Given the description of an element on the screen output the (x, y) to click on. 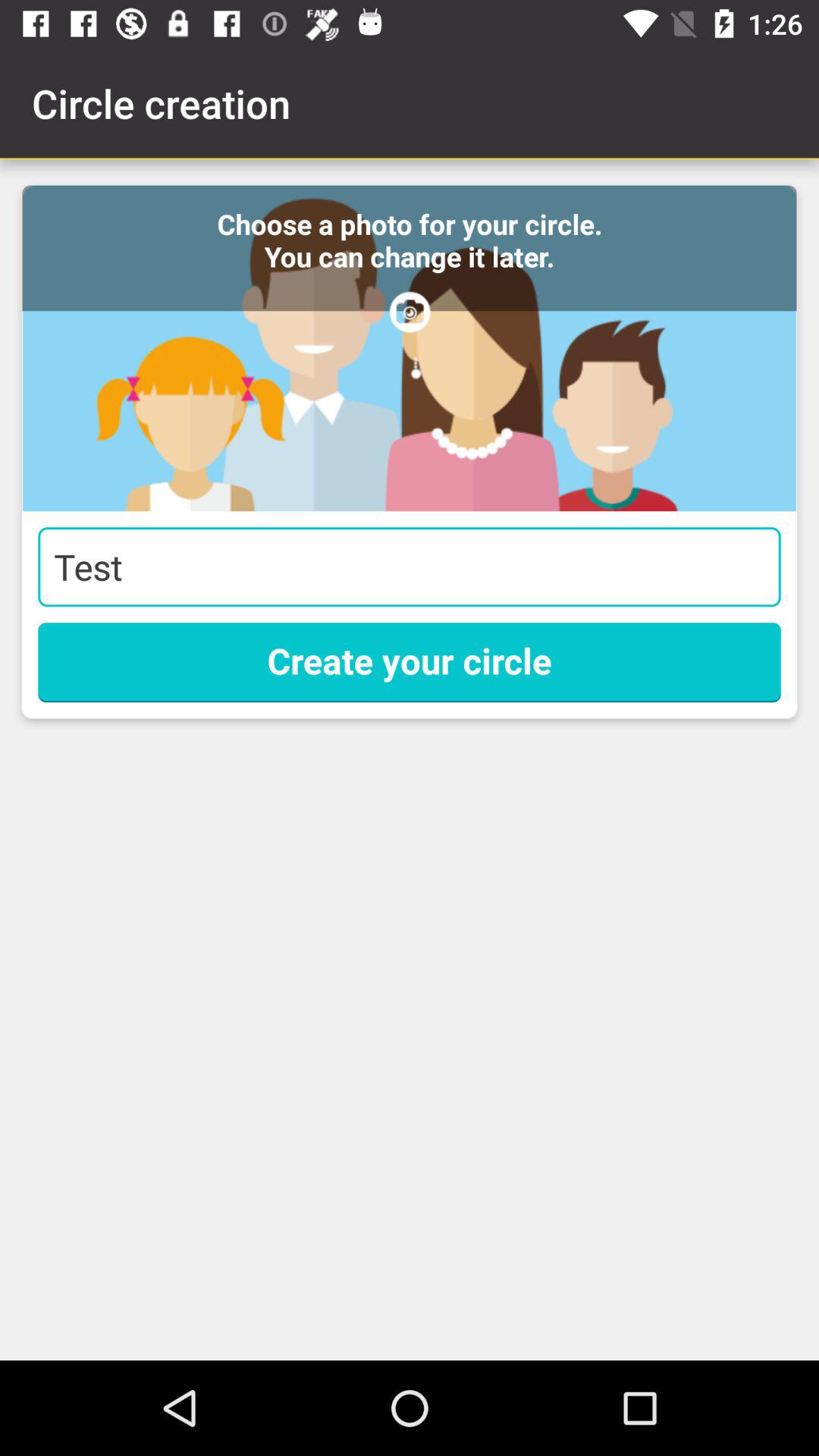
select test (409, 566)
